Given the description of an element on the screen output the (x, y) to click on. 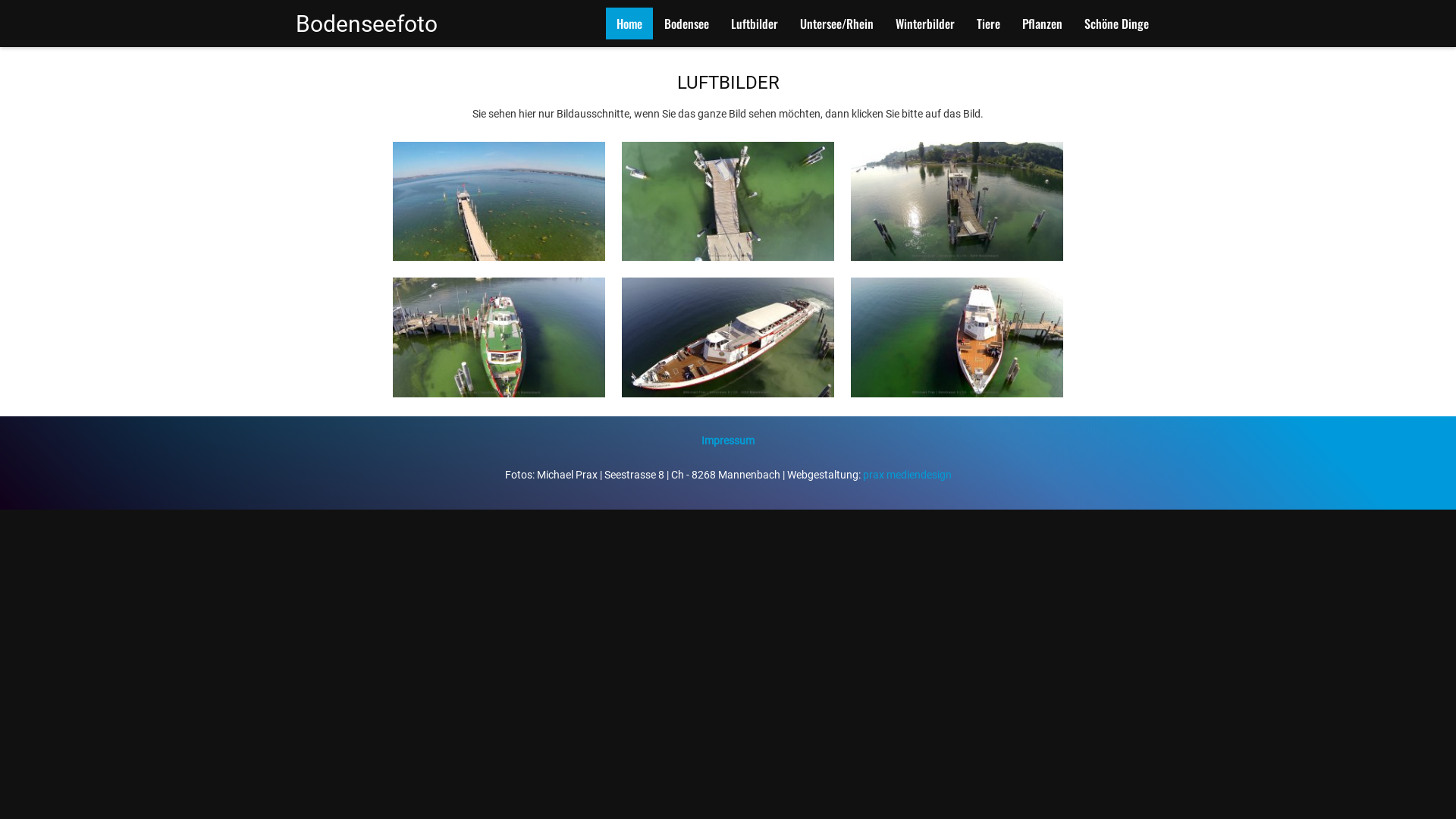
Bodenseefoto Element type: text (395, 23)
prax mediendesign Element type: text (906, 474)
Tiere Element type: text (988, 23)
Home Element type: text (628, 23)
Pflanzen Element type: text (1042, 23)
Winterbilder Element type: text (924, 23)
 (3/6) Element type: hover (956, 201)
 (5/6) Element type: hover (727, 336)
 (1/6) Element type: hover (498, 201)
 (6/6) Element type: hover (956, 336)
Luftbilder Element type: text (754, 23)
 (2/6) Element type: hover (727, 201)
Impressum Element type: text (727, 440)
 (4/6) Element type: hover (498, 336)
Untersee/Rhein Element type: text (836, 23)
Bodensee Element type: text (686, 23)
